Given the description of an element on the screen output the (x, y) to click on. 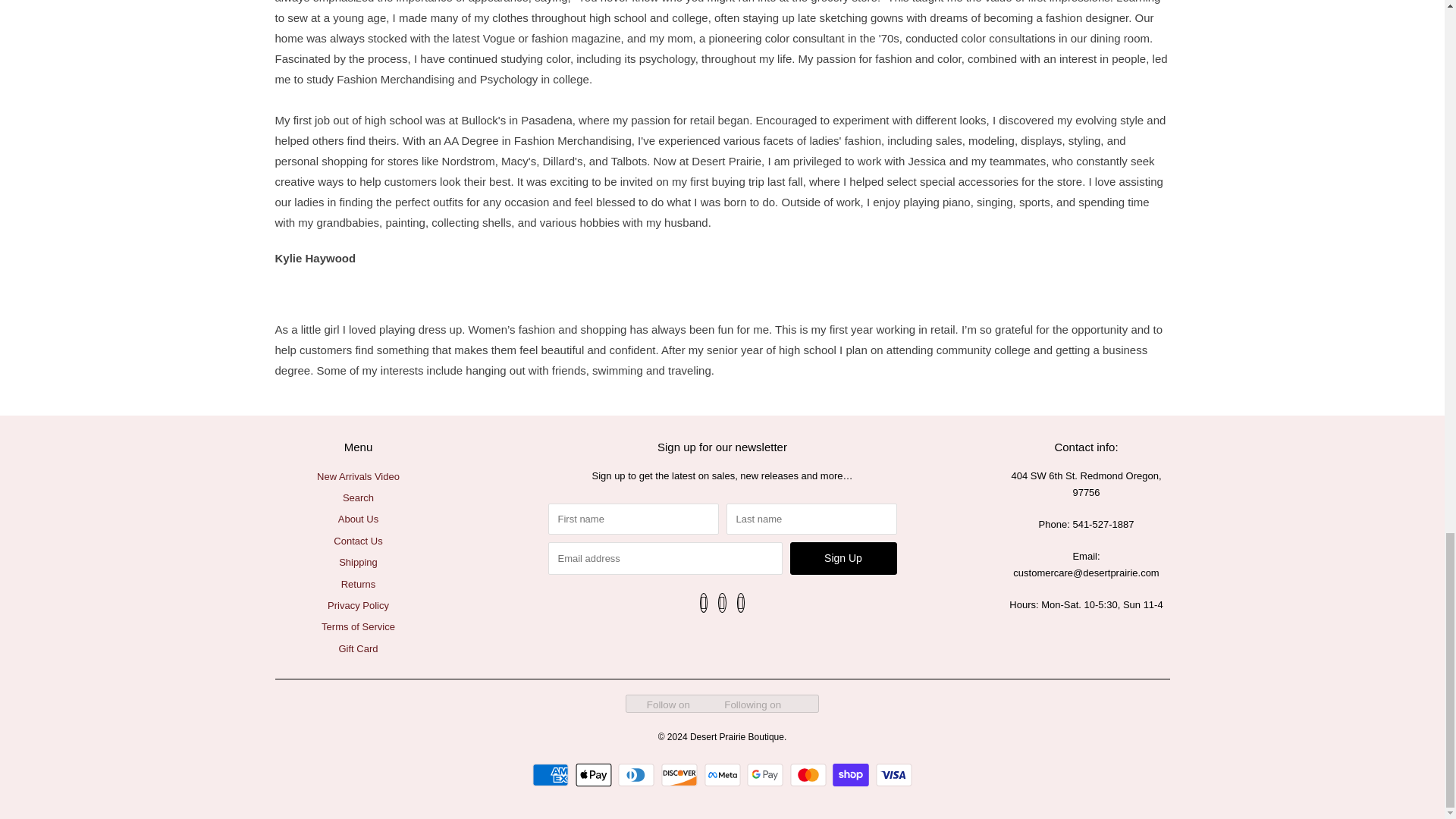
Google Pay (766, 774)
Sign Up (843, 558)
American Express (552, 774)
Visa (894, 774)
Diners Club (637, 774)
Apple Pay (595, 774)
Mastercard (809, 774)
Discover (681, 774)
Meta Pay (723, 774)
Shop Pay (852, 774)
